Given the description of an element on the screen output the (x, y) to click on. 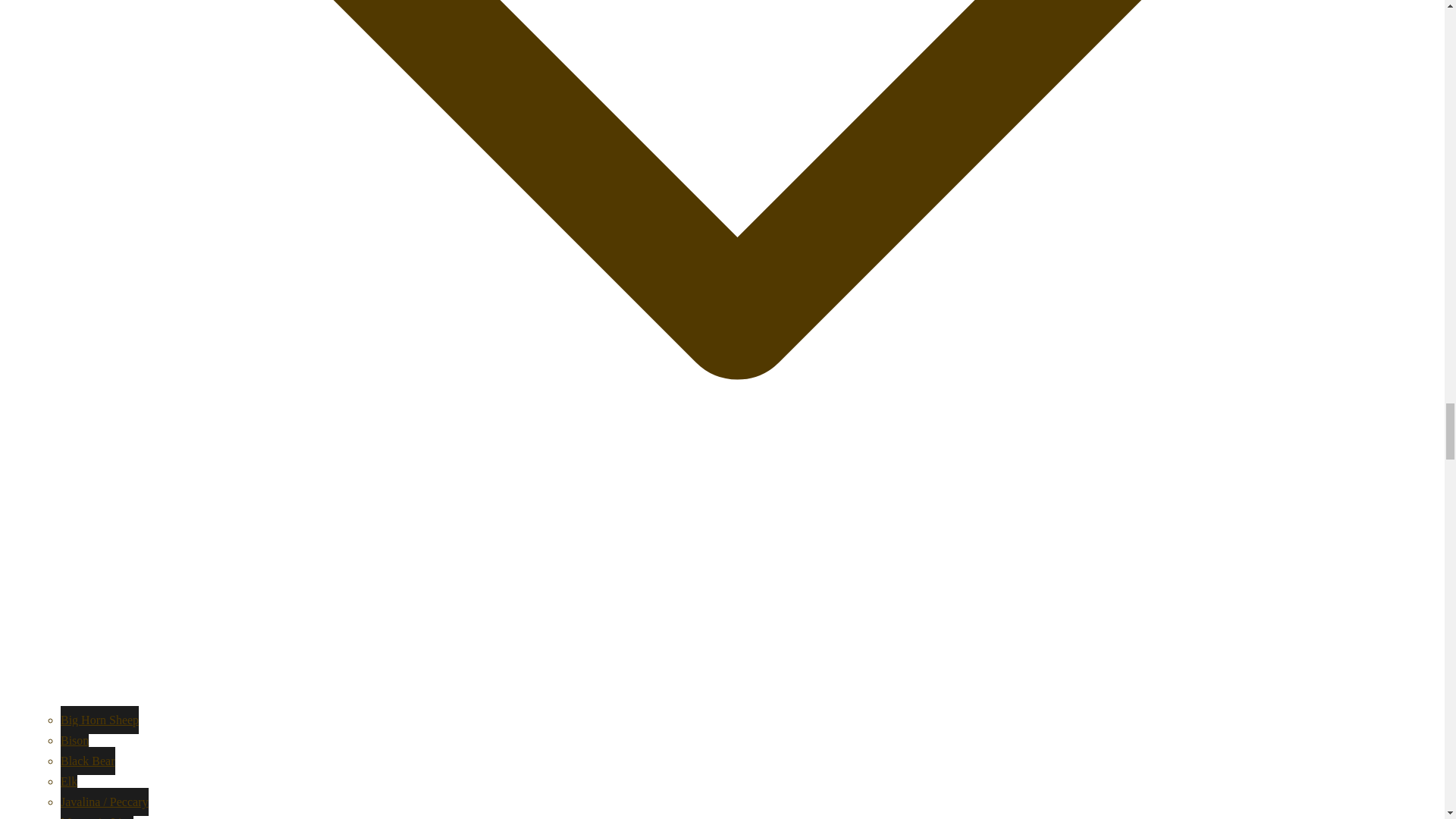
Mountain Lion (97, 813)
Big Horn Sheep (99, 719)
Black Bear (88, 760)
Bison (74, 740)
